Given the description of an element on the screen output the (x, y) to click on. 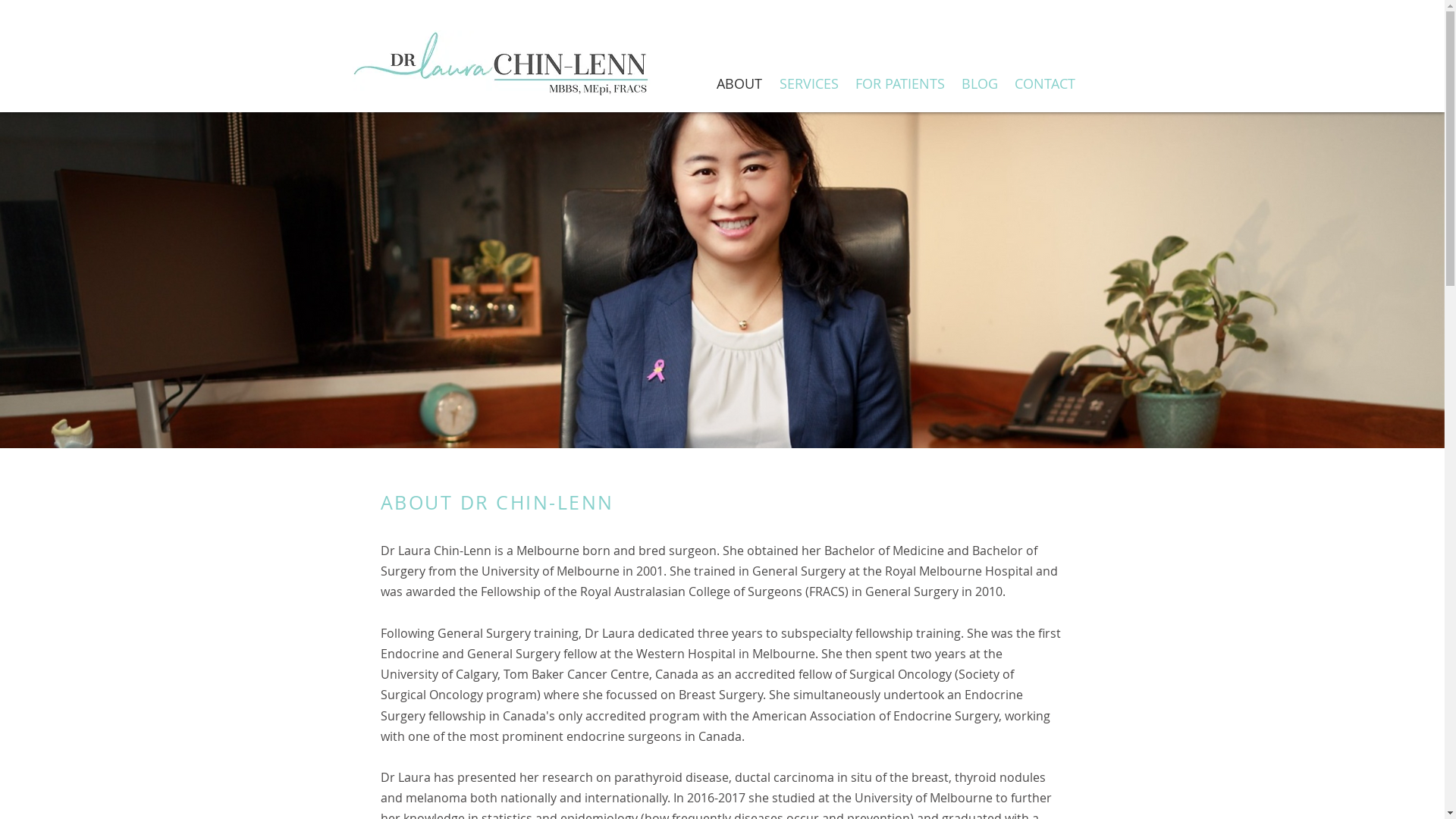
ABOUT Element type: text (739, 83)
SERVICES Element type: text (808, 83)
FOR PATIENTS Element type: text (899, 83)
CONTACT Element type: text (1043, 83)
BLOG Element type: text (978, 83)
